Given the description of an element on the screen output the (x, y) to click on. 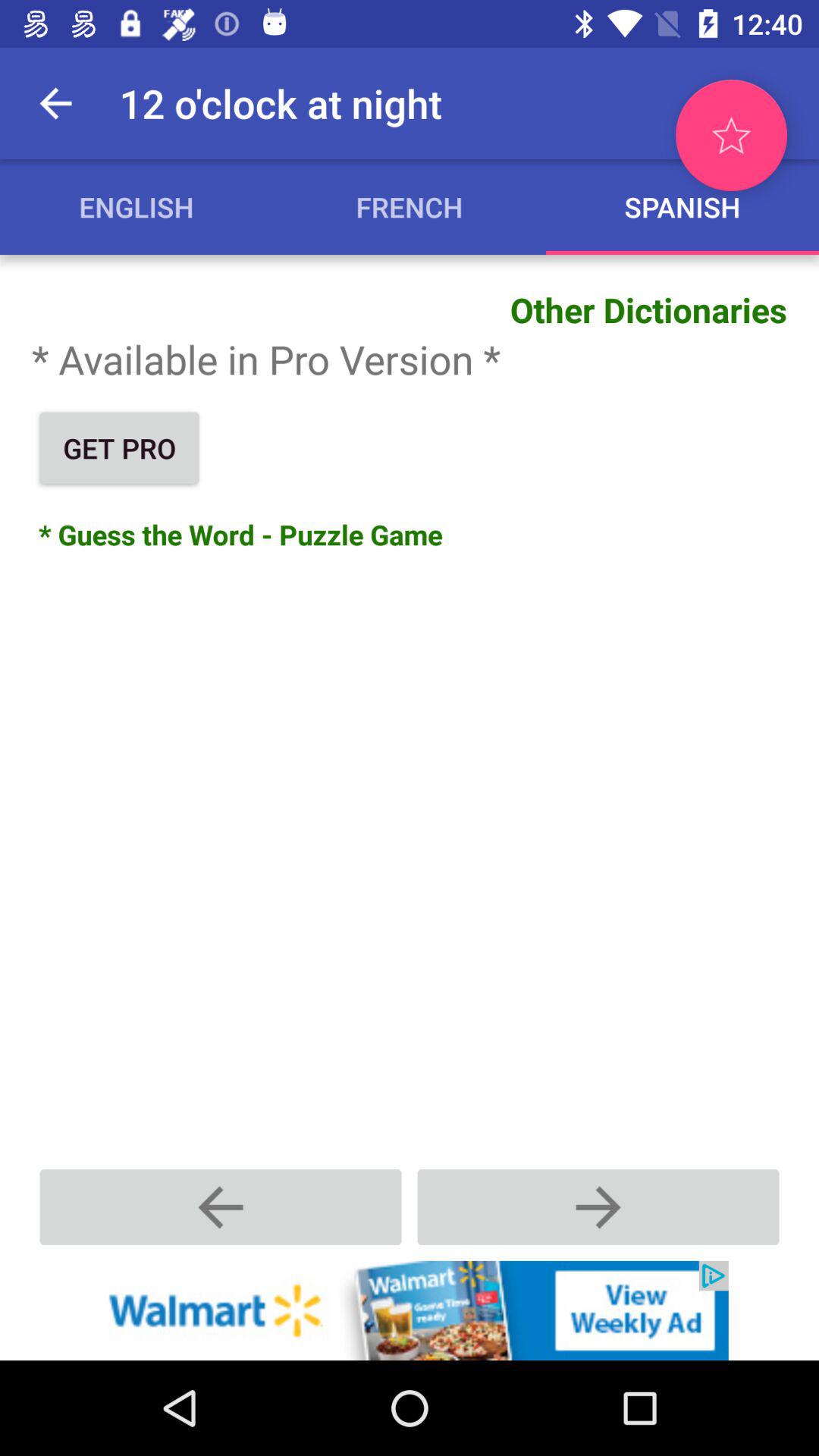
view the advertisement at bottom (409, 1310)
